Given the description of an element on the screen output the (x, y) to click on. 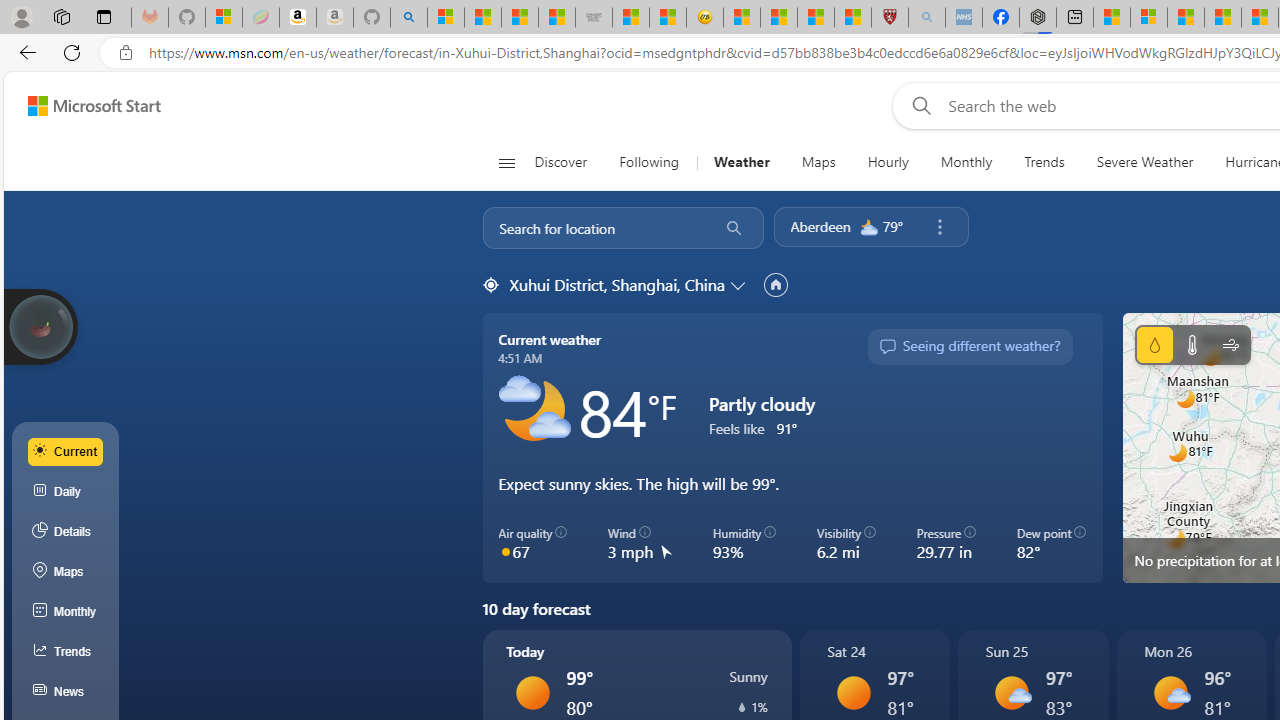
Science - MSN (815, 17)
Web search (917, 105)
Wind 3 mph (639, 543)
Hourly (887, 162)
Details (65, 531)
Trends (1044, 162)
Skip to content (86, 105)
